Given the description of an element on the screen output the (x, y) to click on. 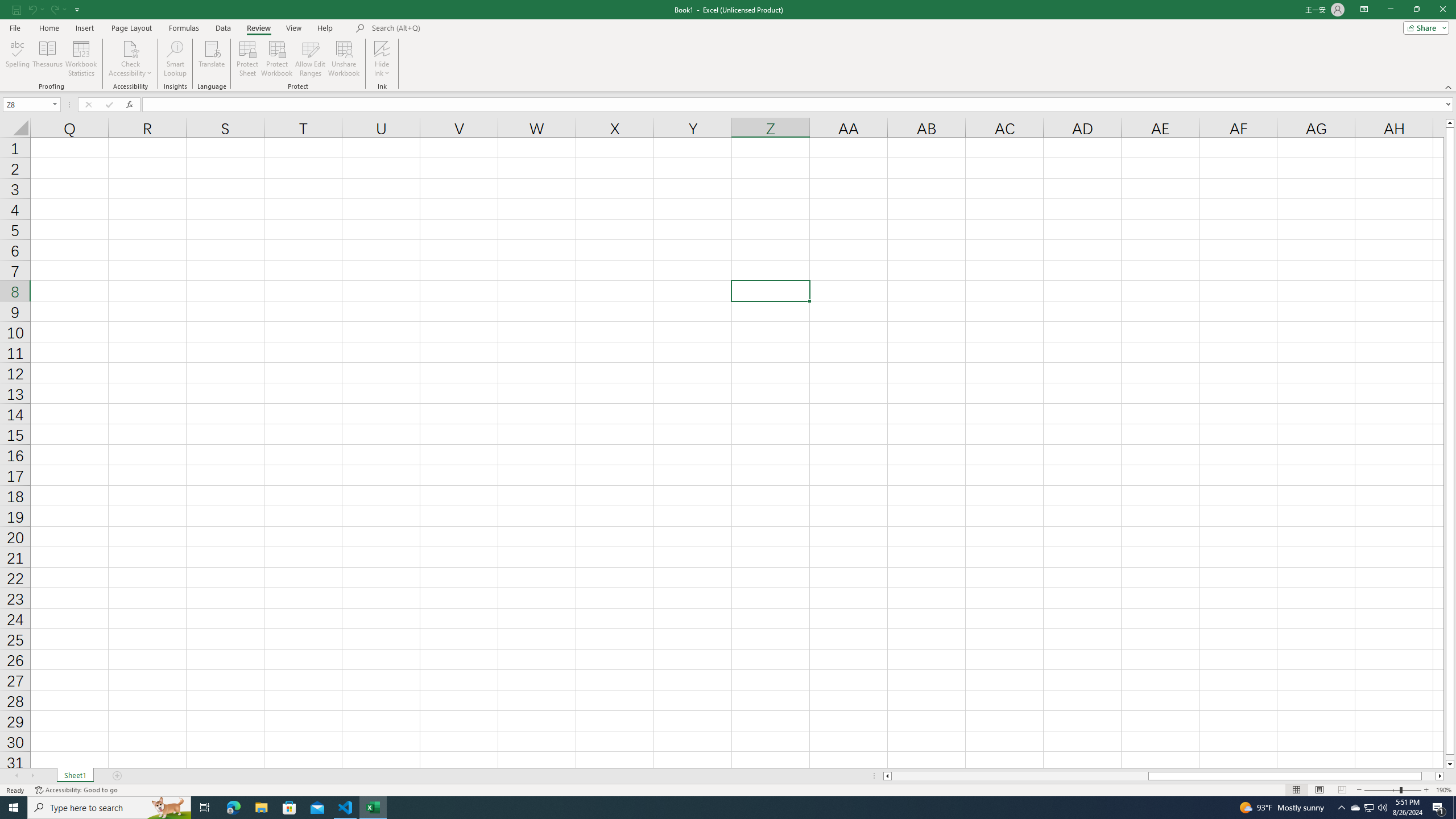
Translate (211, 58)
